Given the description of an element on the screen output the (x, y) to click on. 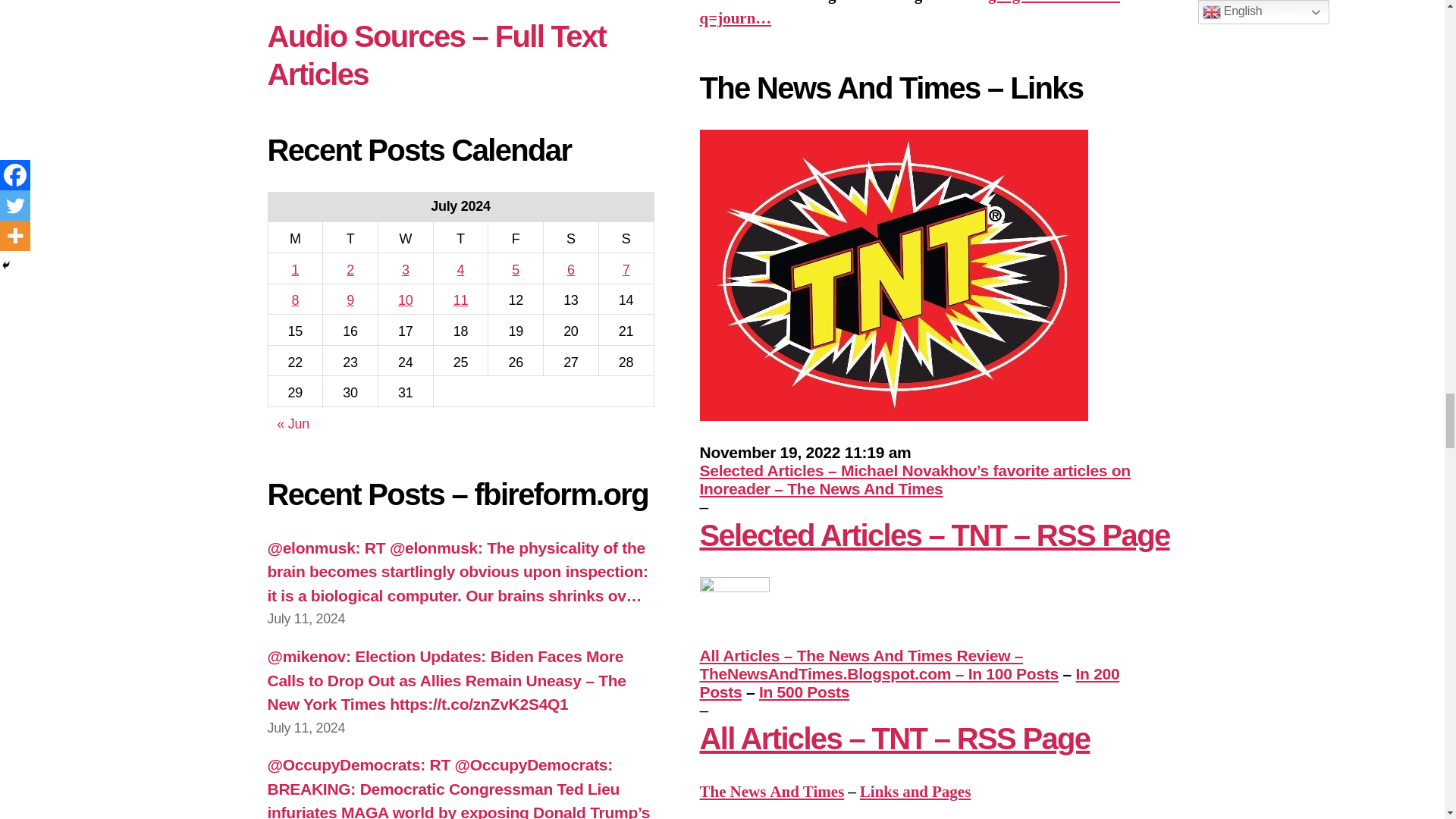
Thursday (459, 237)
Wednesday (404, 237)
Saturday (570, 237)
Monday (295, 237)
Friday (515, 237)
Sunday (625, 237)
Tuesday (350, 237)
